Given the description of an element on the screen output the (x, y) to click on. 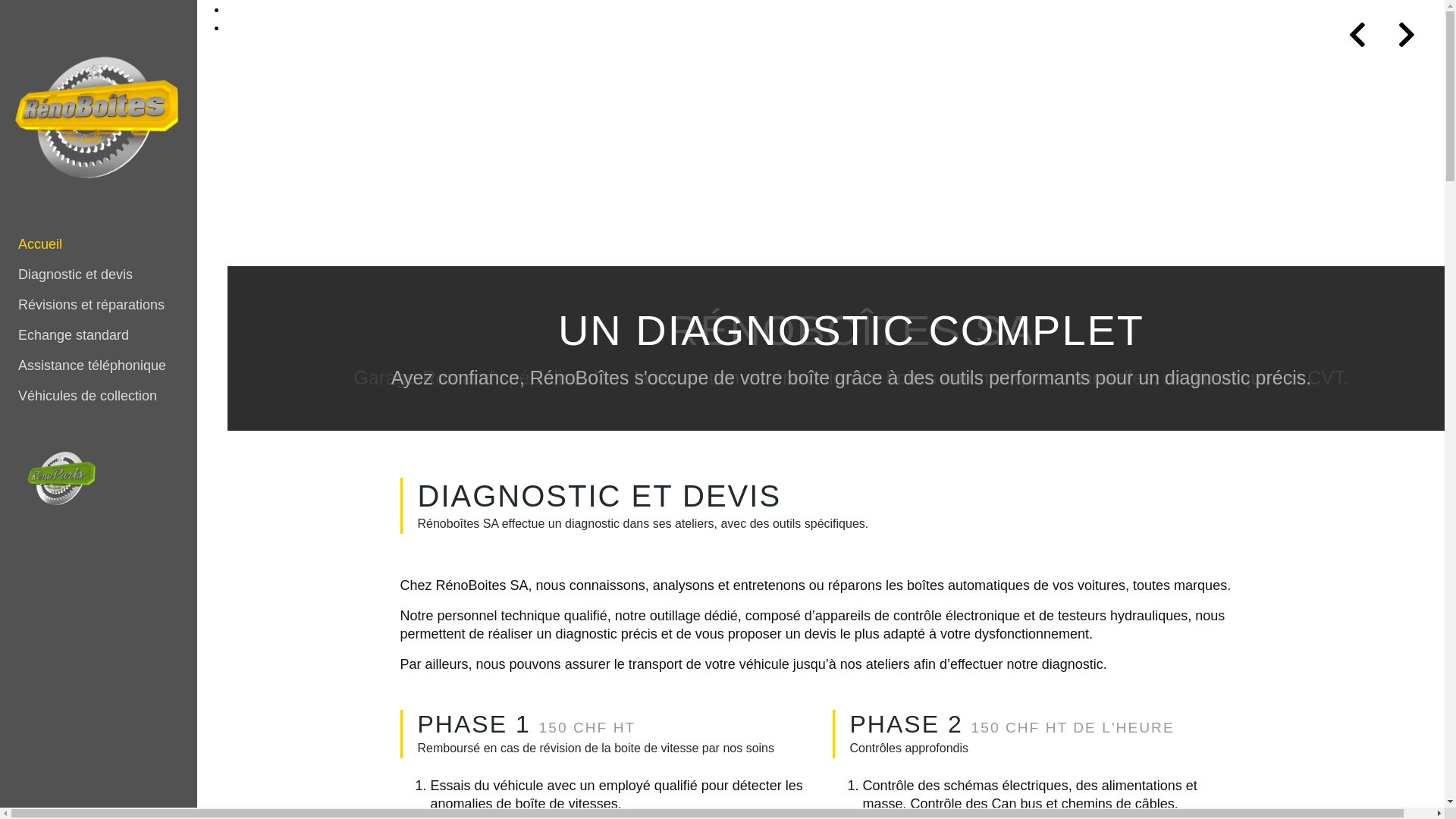
Accueil Element type: text (98, 244)
Diagnostic et devis Element type: text (98, 274)
Echange standard Element type: text (98, 335)
